Given the description of an element on the screen output the (x, y) to click on. 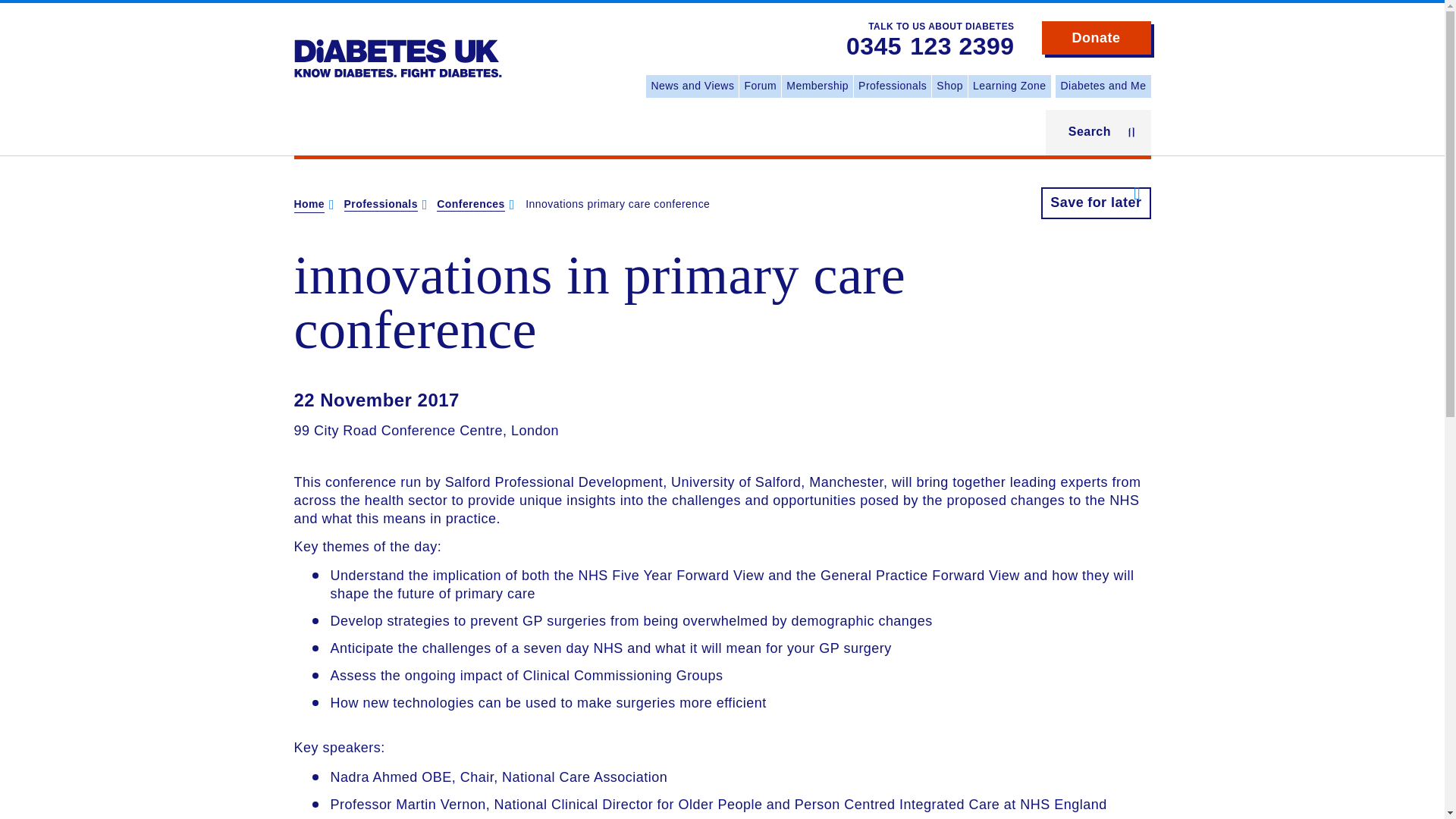
Shop (949, 86)
0345123 2399 (929, 46)
Learning Zone (1009, 86)
Diabetes and Me (1102, 86)
Professionals (892, 86)
Search (1098, 132)
Home (398, 47)
Professionals (380, 204)
Home (309, 204)
Conferences (469, 204)
